Given the description of an element on the screen output the (x, y) to click on. 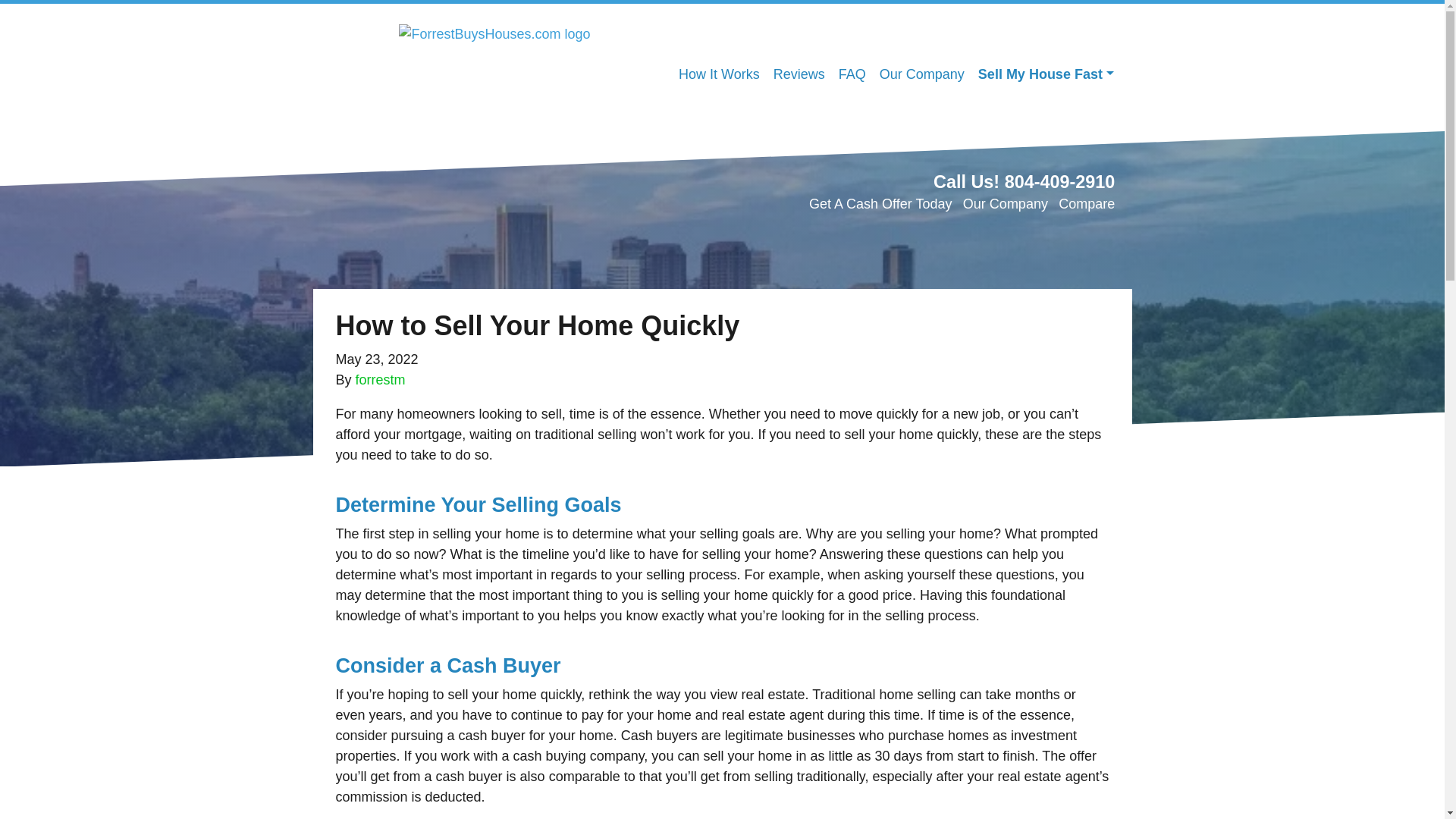
Our Company (1005, 203)
Compare (1086, 203)
Get A Cash Offer Today (880, 203)
Our Company (921, 74)
Our Company (921, 74)
Sell My House Fast (1046, 74)
How It Works (719, 74)
Reviews (799, 74)
How It Works (719, 74)
FAQ (851, 74)
